Given the description of an element on the screen output the (x, y) to click on. 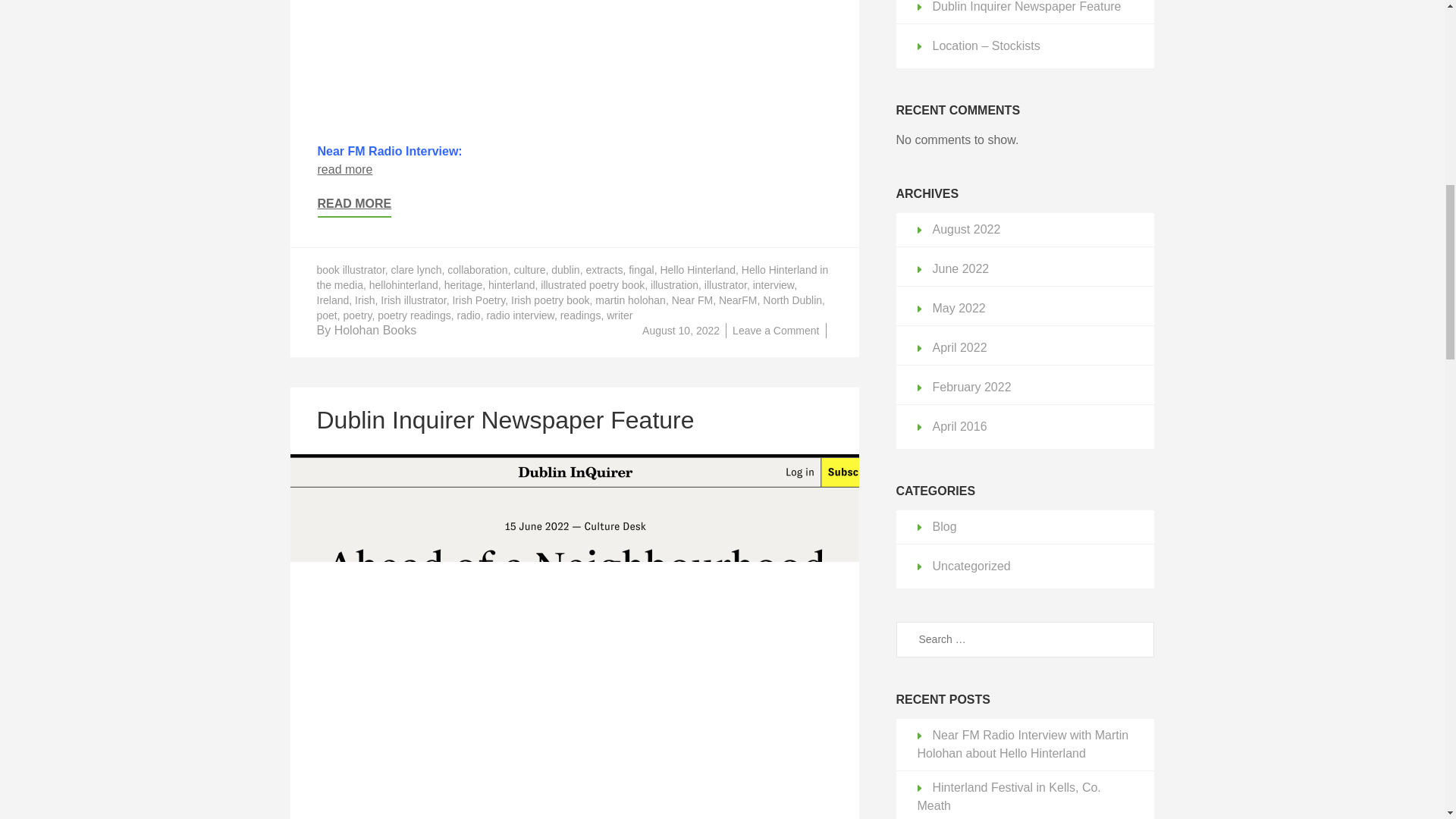
book illustrator (351, 269)
collaboration (476, 269)
READ MORE (354, 207)
clare lynch (416, 269)
read more (344, 169)
hinterland (511, 285)
fingal (640, 269)
Hello Hinterland in the media (572, 277)
Search (1136, 640)
hellohinterland (403, 285)
heritage (463, 285)
extracts (604, 269)
Search (1136, 640)
Hello Hinterland (697, 269)
dublin (565, 269)
